Given the description of an element on the screen output the (x, y) to click on. 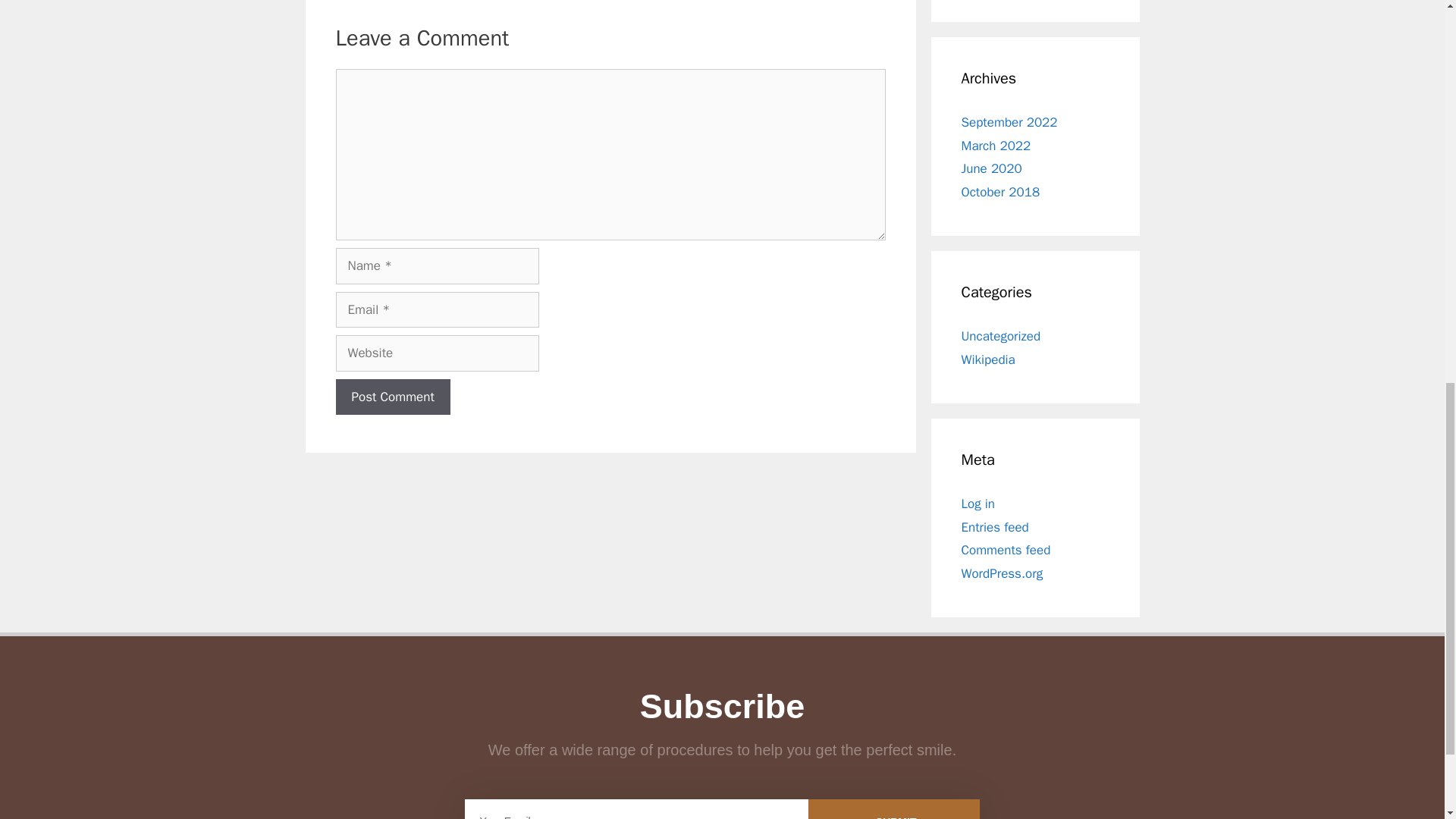
Post Comment (391, 397)
